Given the description of an element on the screen output the (x, y) to click on. 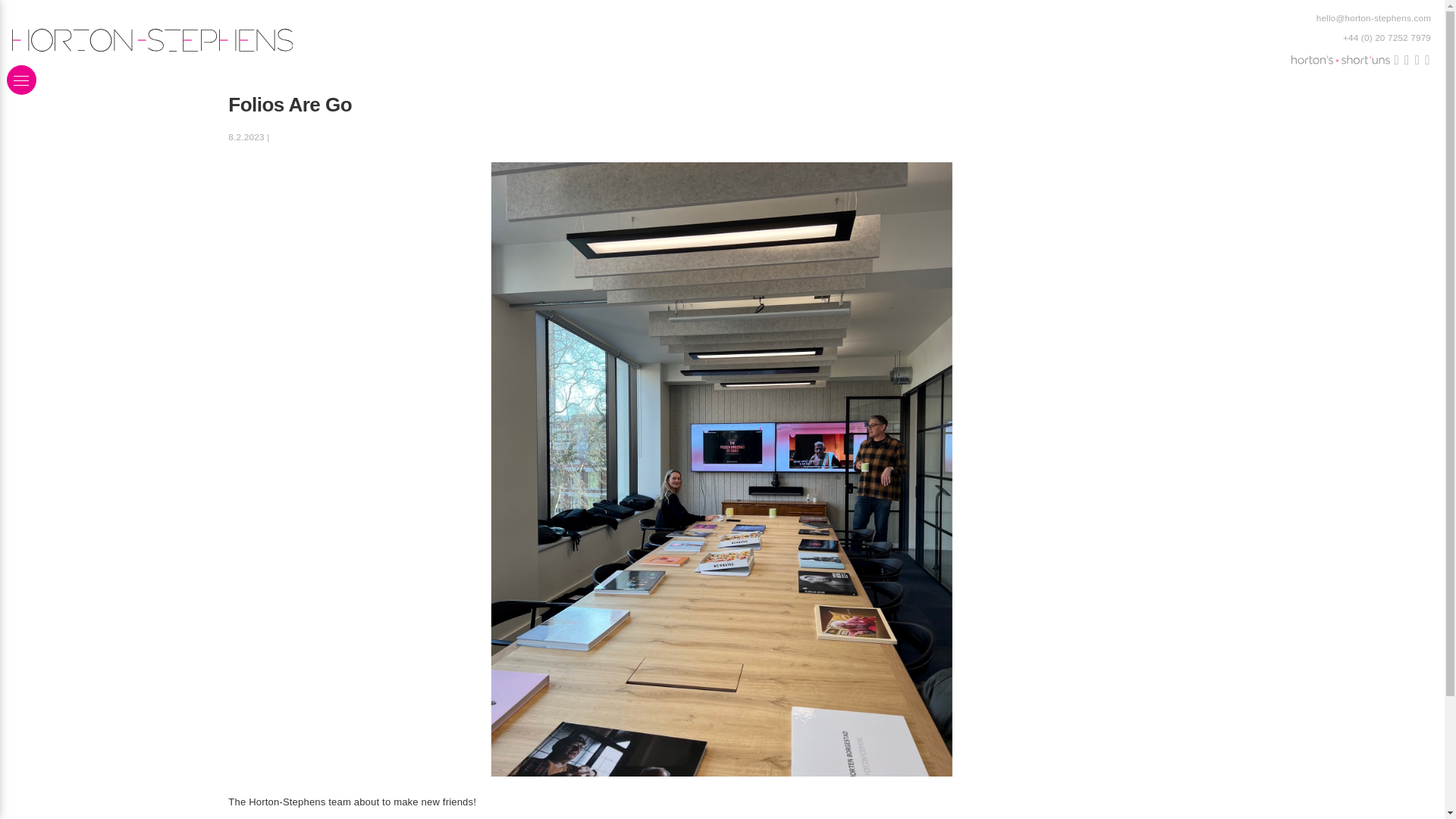
Horton Stephens Film-makers (1339, 61)
Goto Horton Stephens home (366, 39)
Menu (21, 80)
